Given the description of an element on the screen output the (x, y) to click on. 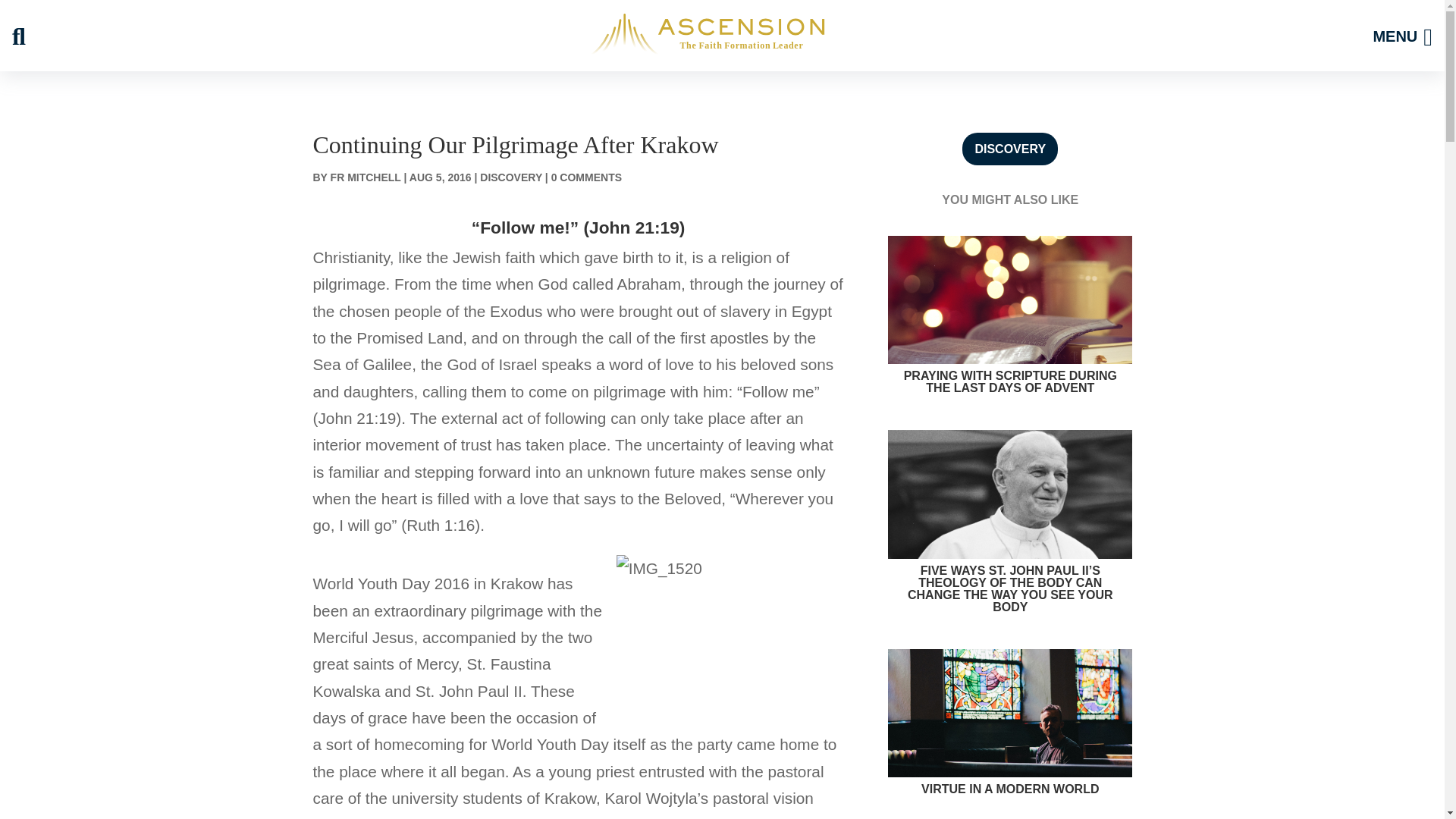
0 COMMENTS (586, 177)
DISCOVERY (510, 177)
FR MITCHELL (365, 177)
Posts by Fr Mitchell (365, 177)
DISCOVERY (1010, 148)
PRAYING WITH SCRIPTURE DURING THE LAST DAYS OF ADVENT (1009, 383)
